Given the description of an element on the screen output the (x, y) to click on. 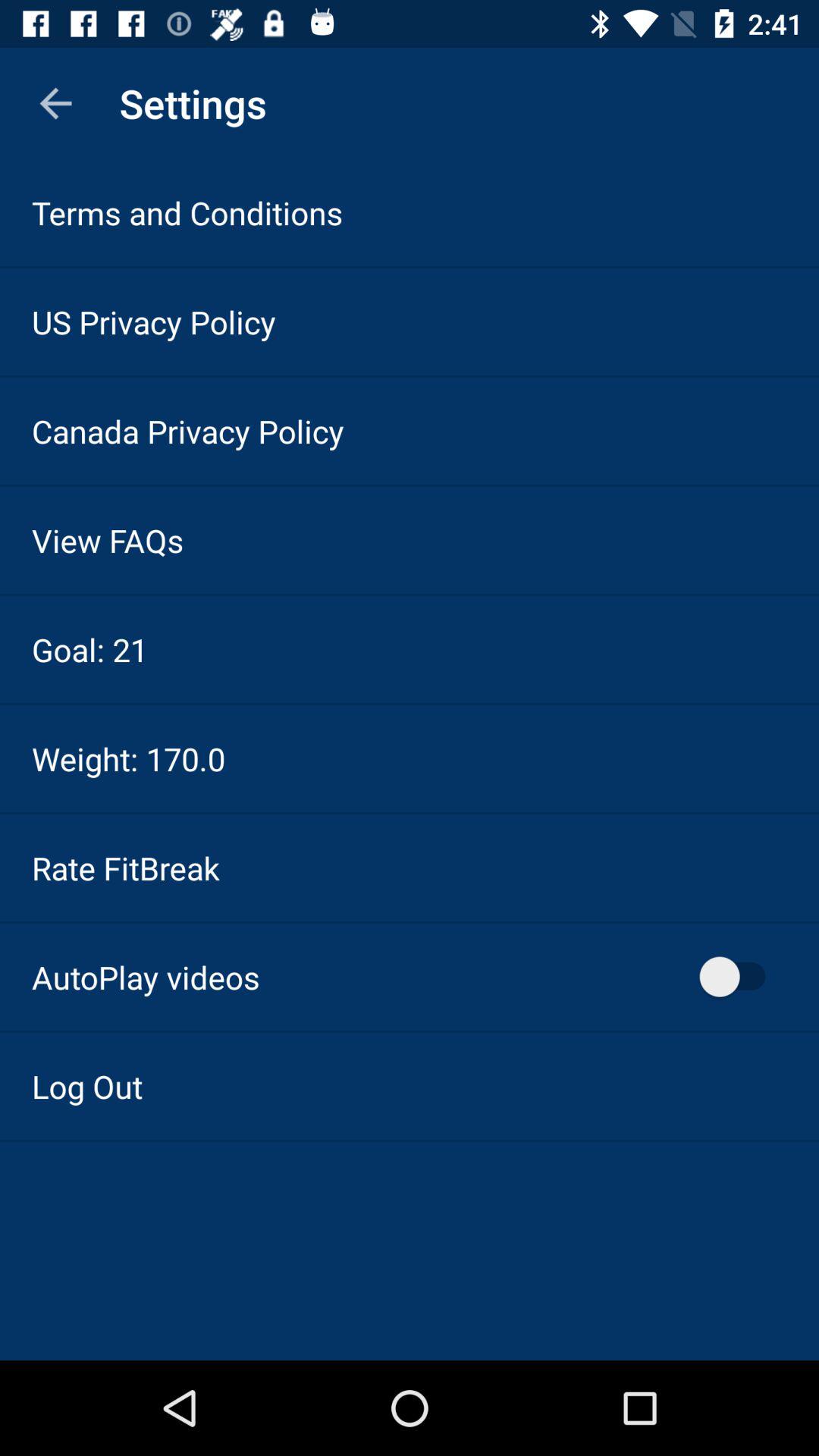
flip to weight: 170.0 (128, 758)
